Given the description of an element on the screen output the (x, y) to click on. 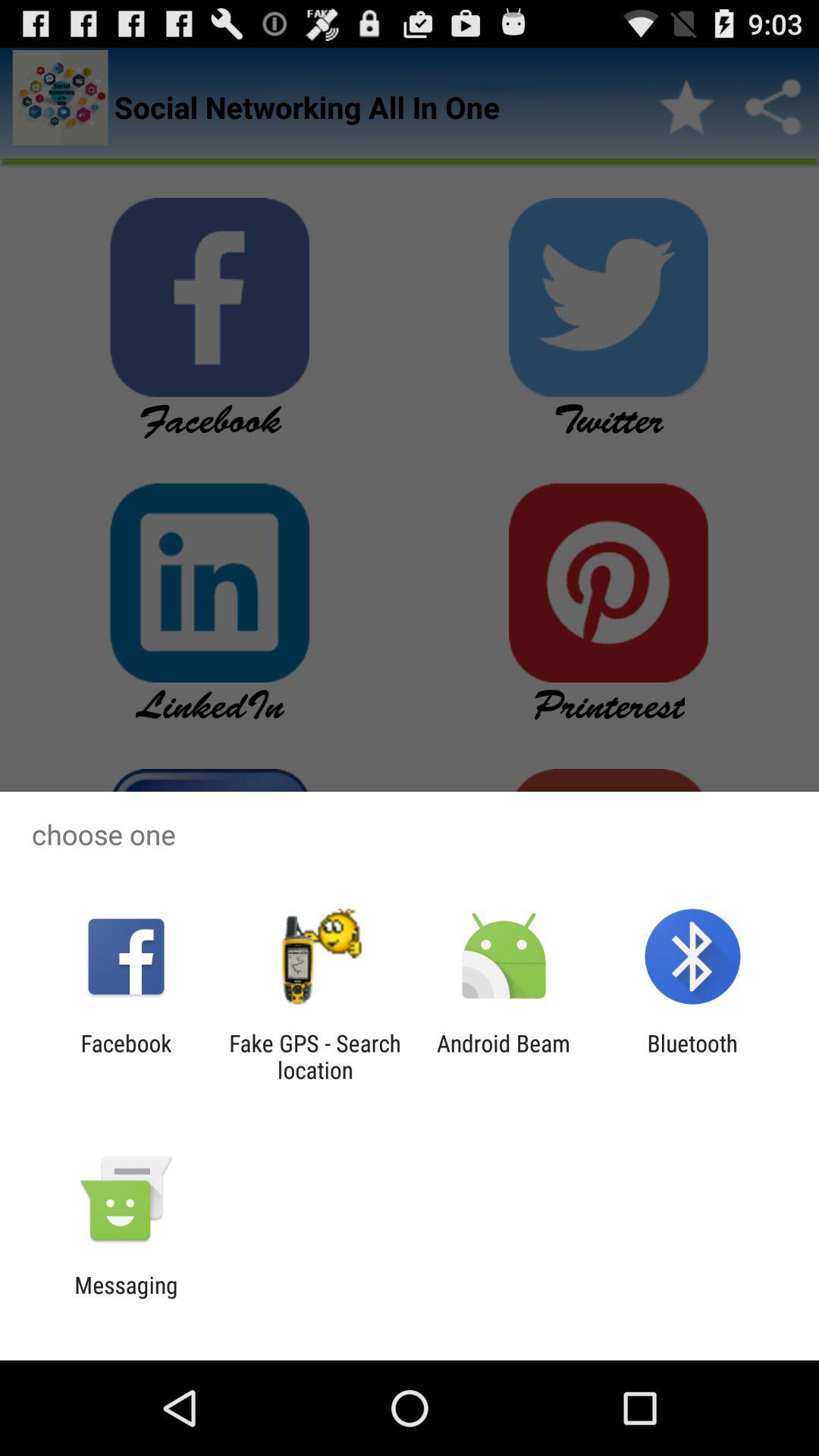
choose the icon to the left of bluetooth app (503, 1056)
